Given the description of an element on the screen output the (x, y) to click on. 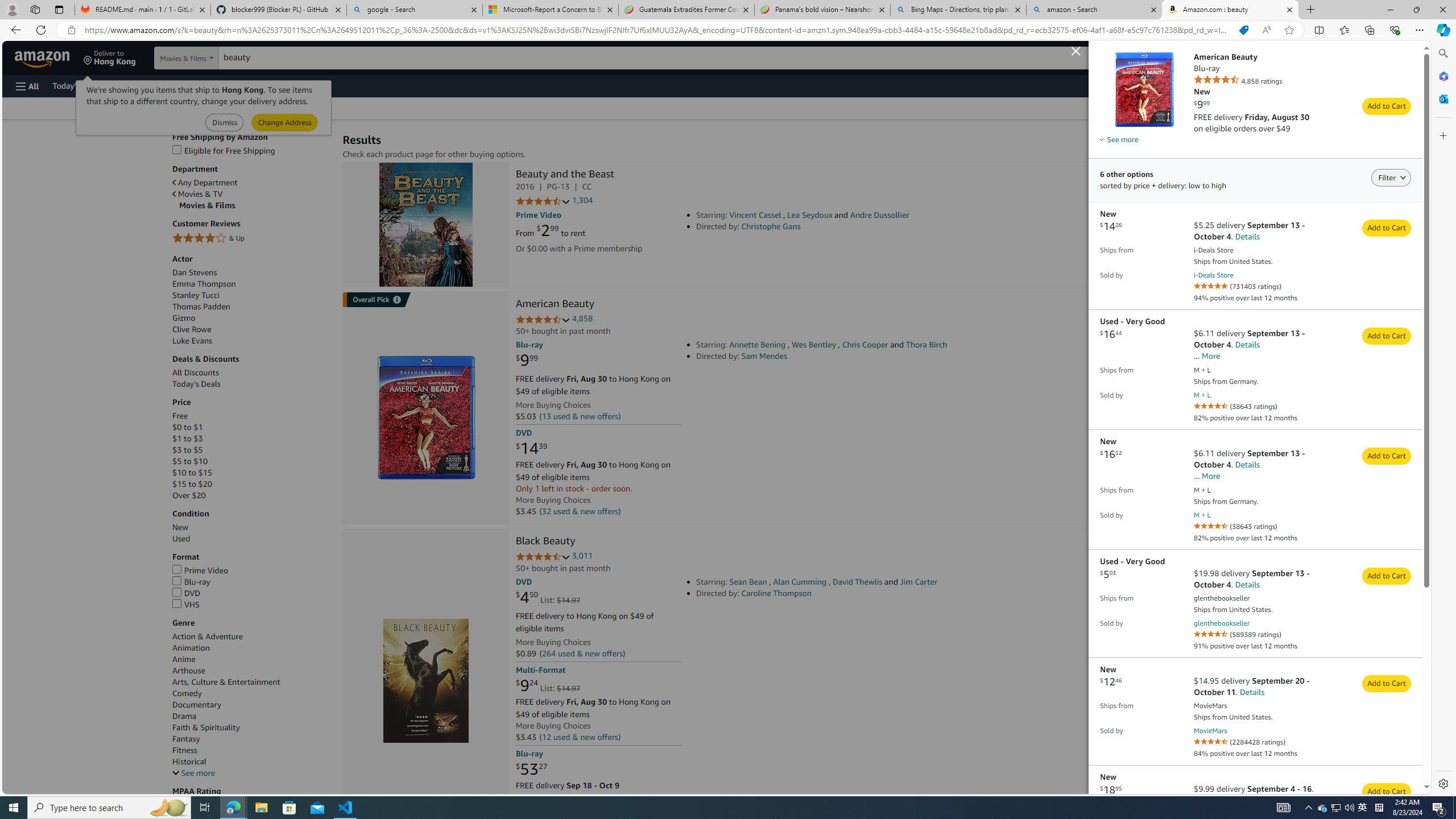
$4.50 List: $14.97 (547, 597)
Shopping in Microsoft Edge (1243, 29)
Animation (251, 647)
Add to Cart from seller M + L and price $16.52  (1386, 455)
Action & Adventure (251, 636)
Arthouse (188, 670)
$5 to $10 (251, 461)
Sean Bean (748, 581)
Any Department (251, 182)
Go (1105, 57)
VHS (251, 604)
Registry (205, 85)
Copilot (Ctrl+Shift+.) (1442, 29)
Any Department (204, 182)
